Given the description of an element on the screen output the (x, y) to click on. 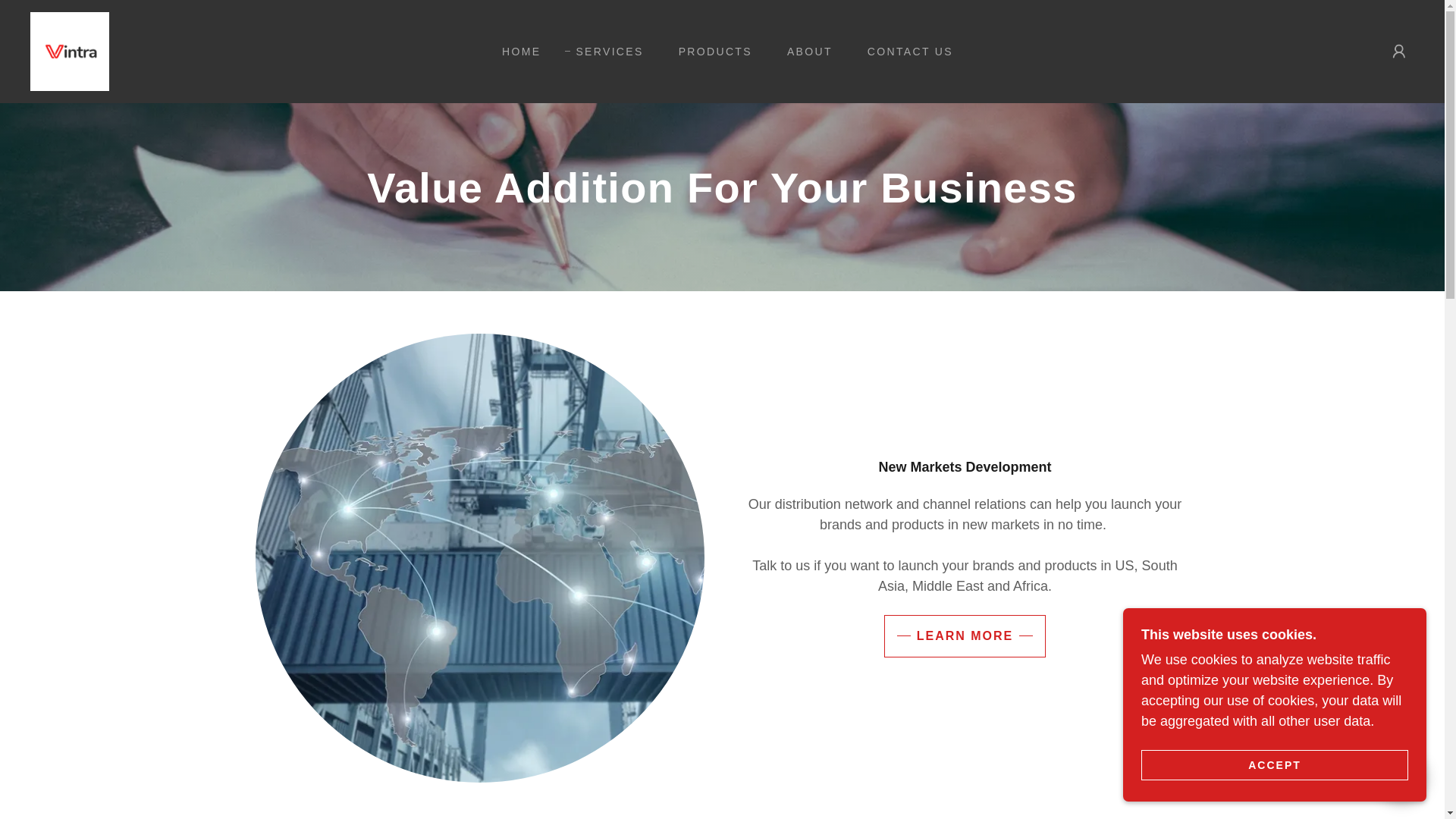
PRODUCTS (710, 51)
ABOUT (804, 51)
CONTACT US (904, 51)
HOME (515, 51)
ACCEPT (1274, 764)
SERVICES (603, 51)
LEARN MORE (964, 636)
